Given the description of an element on the screen output the (x, y) to click on. 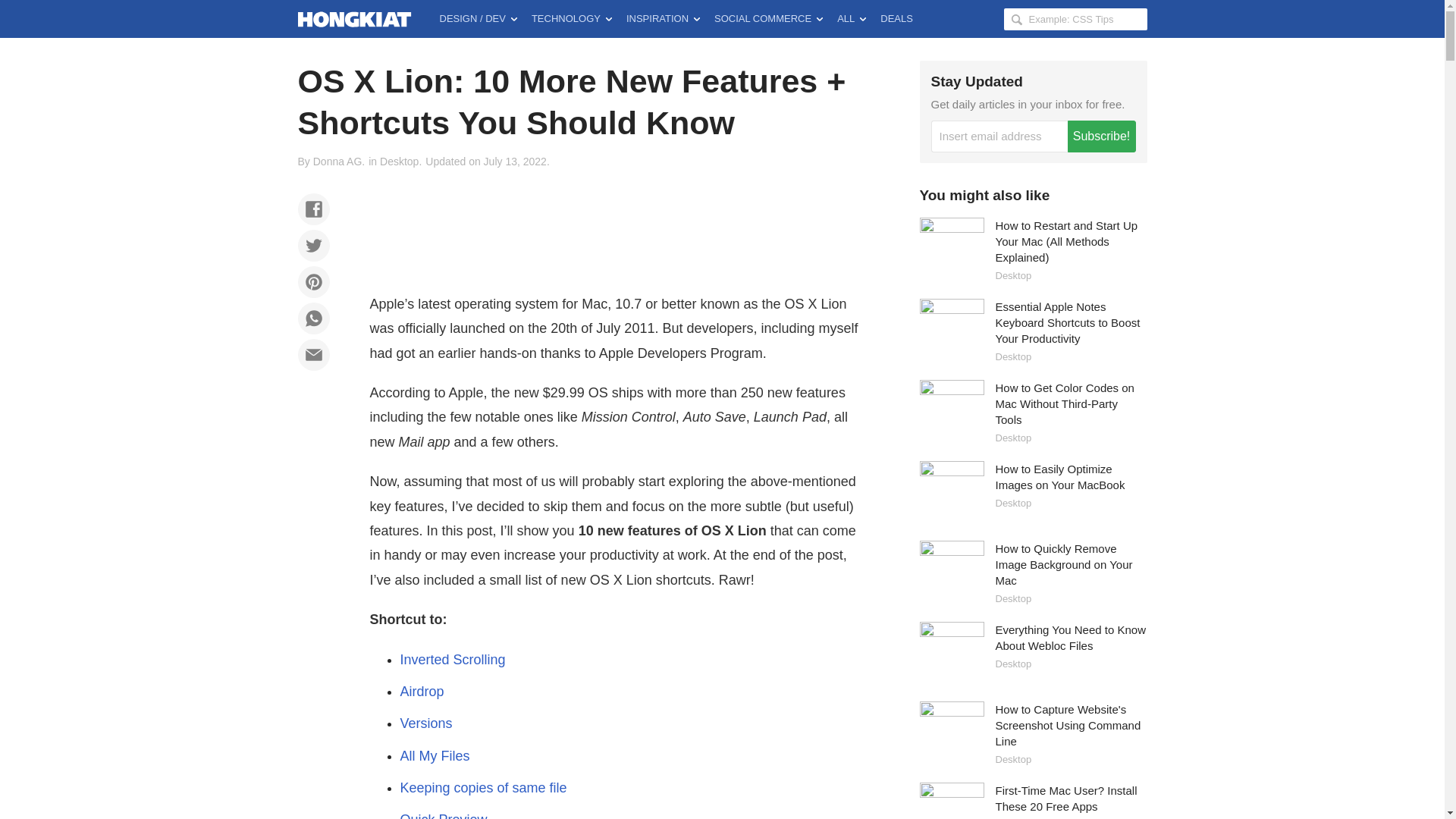
INSPIRATION (662, 18)
Versions (426, 723)
All My Files (435, 755)
Keeping copies of same file (483, 787)
Quick Preview (443, 815)
TECHNOLOGY (571, 18)
SOCIAL COMMERCE (767, 18)
Inverted Scrolling (452, 659)
Search Hongkiat for (1075, 18)
Donna AG (337, 161)
